Given the description of an element on the screen output the (x, y) to click on. 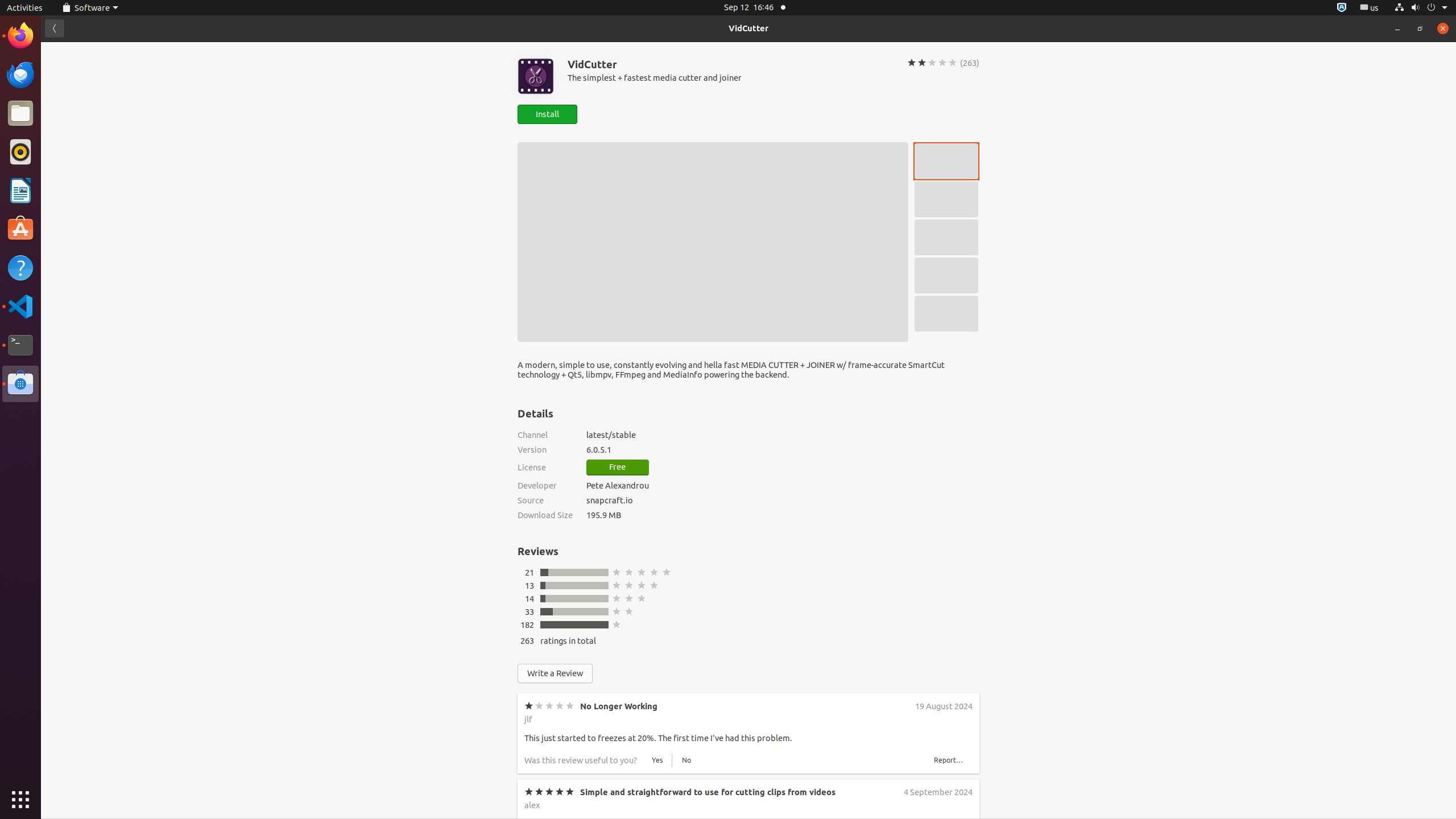
Terminal Element type: push-button (20, 344)
21 Element type: label (529, 572)
alex Element type: label (531, 804)
This just started to freezes at 20%. The first time I've had this problem. Element type: label (658, 737)
33 Element type: label (529, 611)
